Given the description of an element on the screen output the (x, y) to click on. 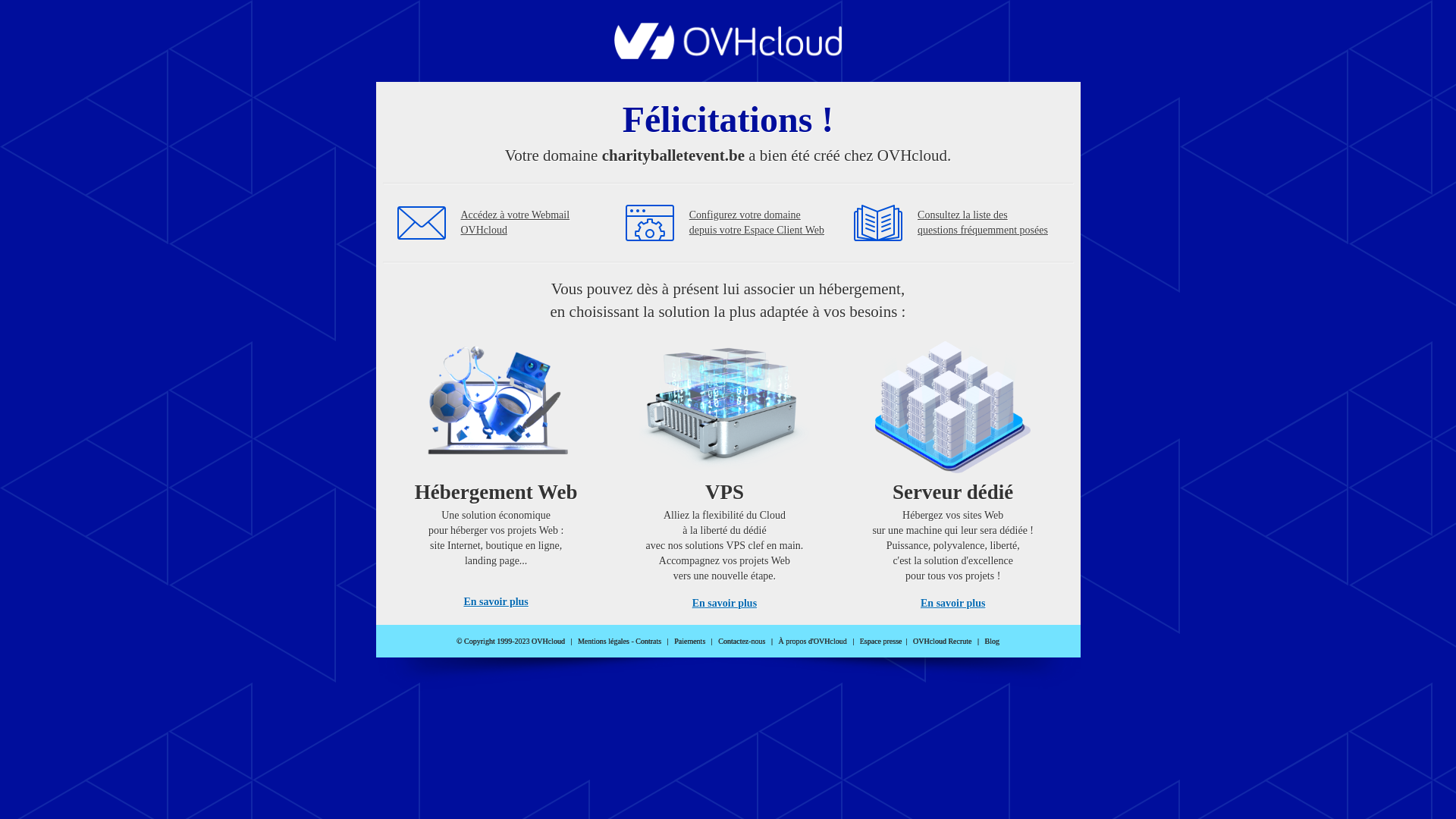
OVHcloud Element type: hover (727, 54)
Espace presse Element type: text (880, 641)
Blog Element type: text (992, 641)
En savoir plus Element type: text (495, 601)
OVHcloud Recrute Element type: text (942, 641)
VPS Element type: hover (724, 469)
Paiements Element type: text (689, 641)
Contactez-nous Element type: text (741, 641)
Configurez votre domaine
depuis votre Espace Client Web Element type: text (756, 222)
En savoir plus Element type: text (952, 602)
En savoir plus Element type: text (724, 602)
